Given the description of an element on the screen output the (x, y) to click on. 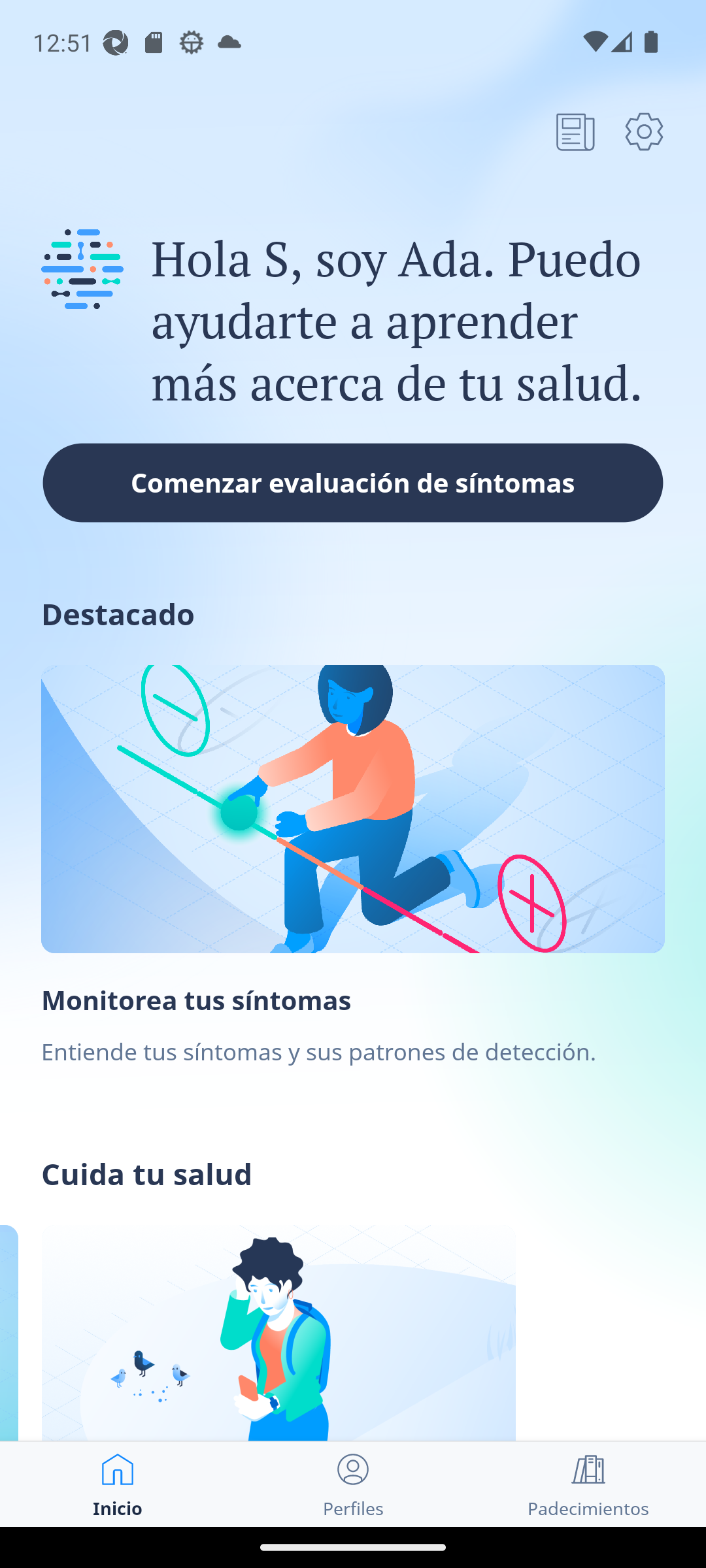
article icon , open articles (574, 131)
settings icon, open settings (644, 131)
Comenzar evaluación de síntomas (352, 482)
Inicio (117, 1484)
Perfiles (352, 1484)
Padecimientos (588, 1484)
